Given the description of an element on the screen output the (x, y) to click on. 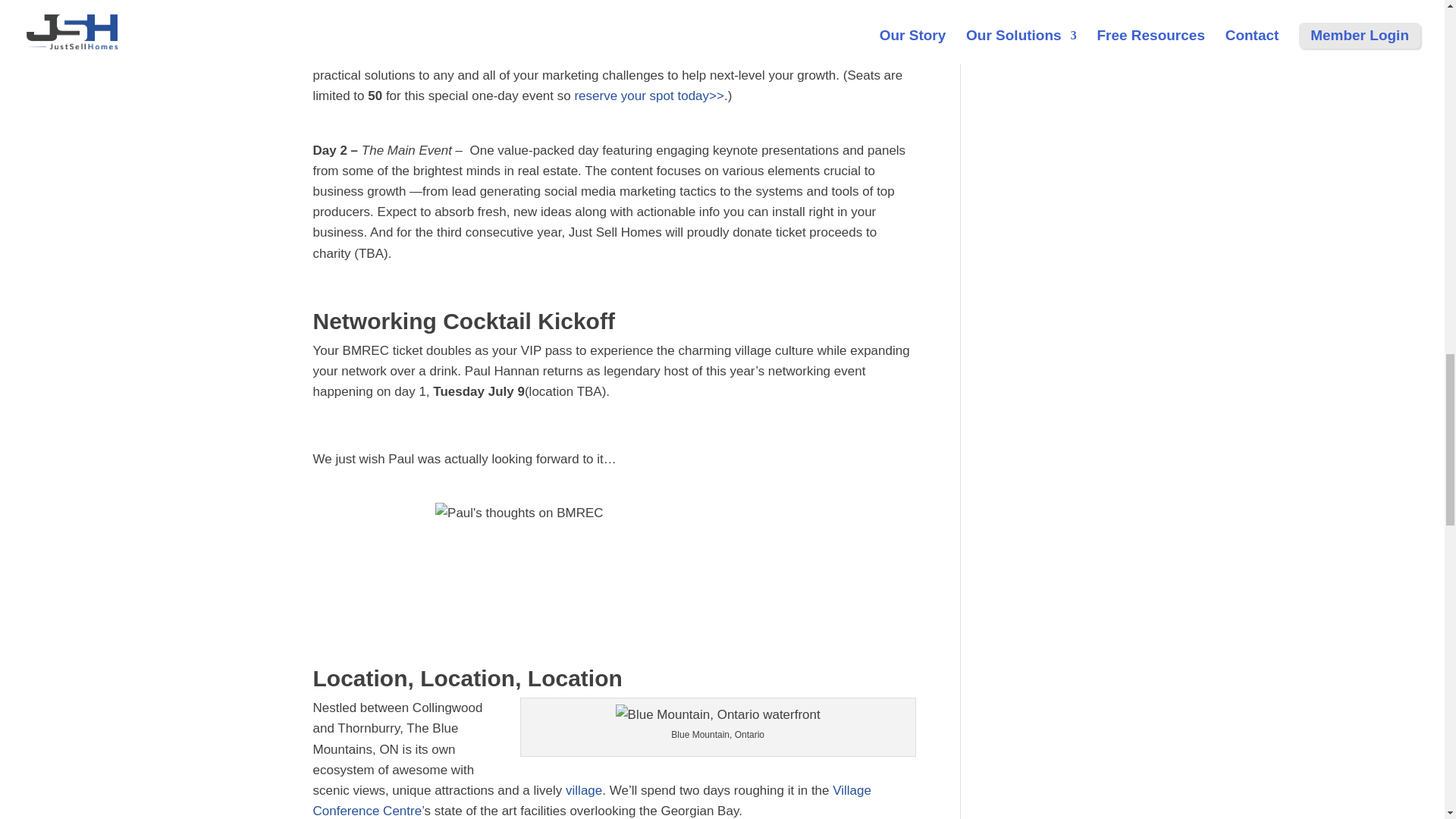
village (582, 789)
